Given the description of an element on the screen output the (x, y) to click on. 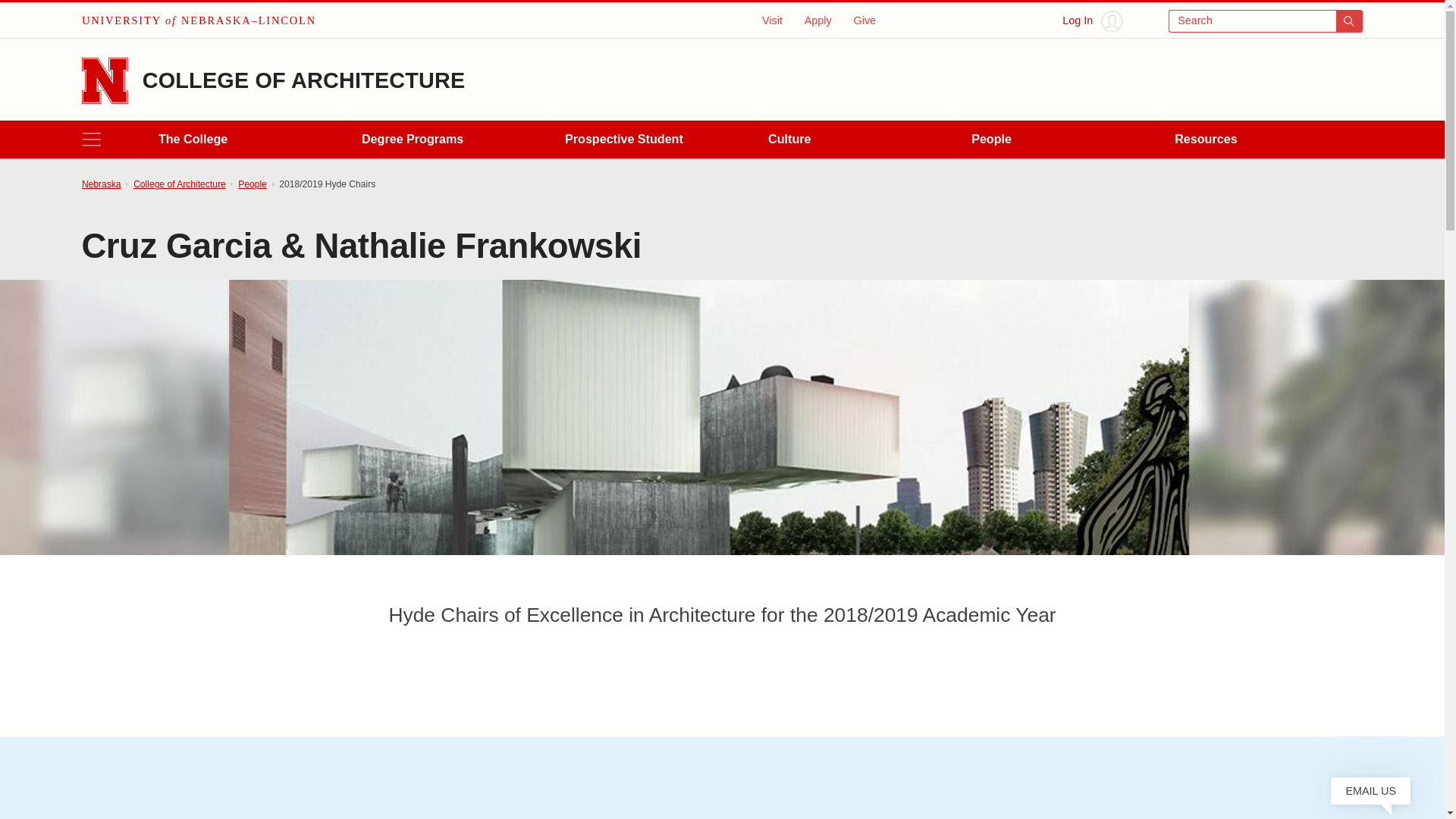
Degree Programs (448, 139)
Apply (818, 20)
COLLEGE OF ARCHITECTURE (303, 79)
Log In (1092, 21)
Search (1265, 21)
Visit (772, 20)
Skip to main content (19, 16)
The College (244, 139)
Give (864, 20)
Prospective Student (651, 139)
